Given the description of an element on the screen output the (x, y) to click on. 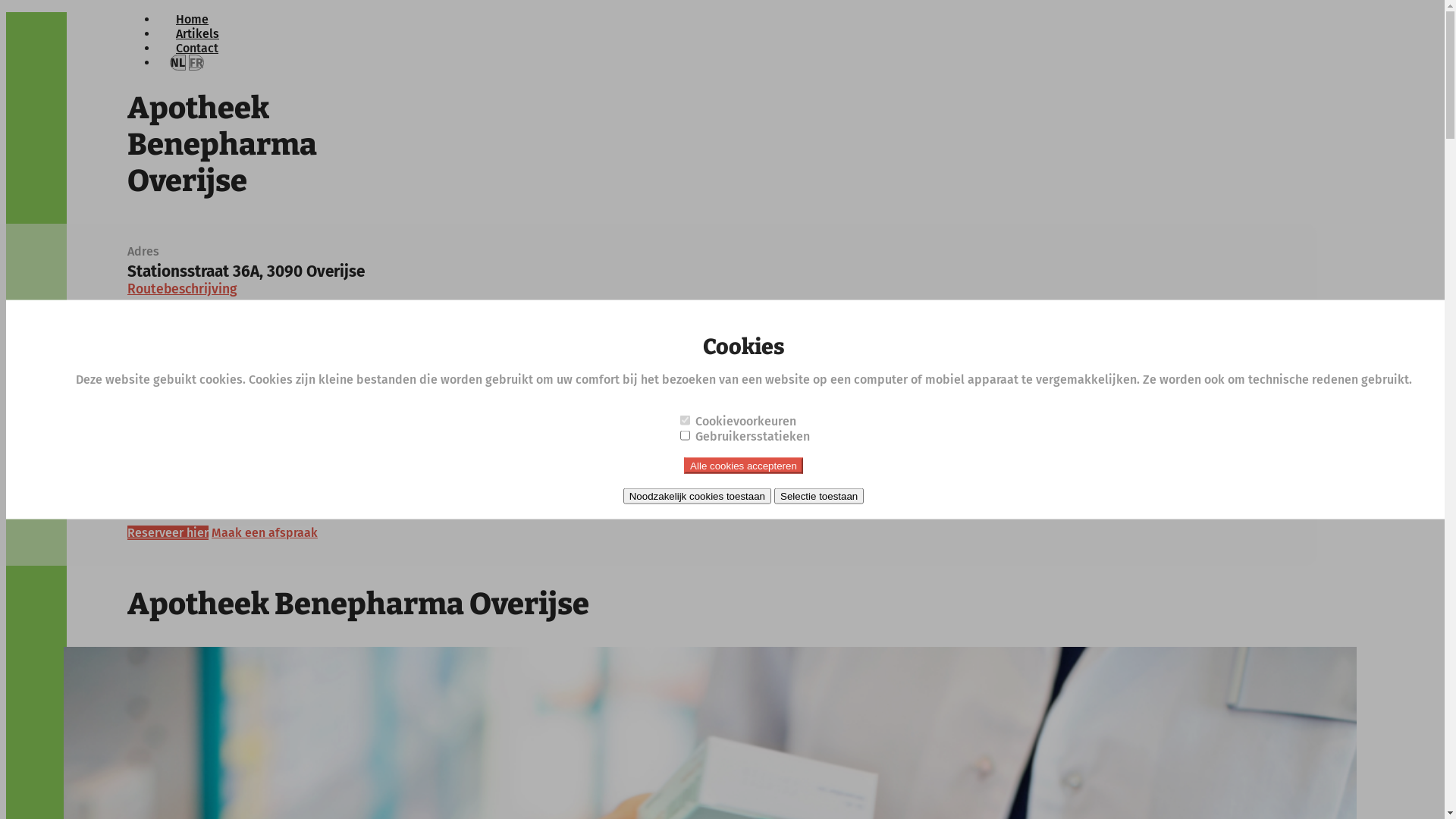
Home Element type: text (191, 19)
apothekers@benepharma.be Element type: text (254, 437)
NL Element type: text (177, 62)
Maak een afspraak Element type: text (264, 532)
Reserveer hier Element type: text (167, 532)
Contact Element type: text (196, 47)
Routebeschrijving Element type: text (181, 289)
FR Element type: text (195, 62)
Alle cookies accepteren Element type: text (743, 465)
Noodzakelijk cookies toestaan Element type: text (697, 495)
Selectie toestaan Element type: text (818, 495)
benepharma.apotheek.be Element type: text (241, 472)
Artikels Element type: text (197, 33)
